Given the description of an element on the screen output the (x, y) to click on. 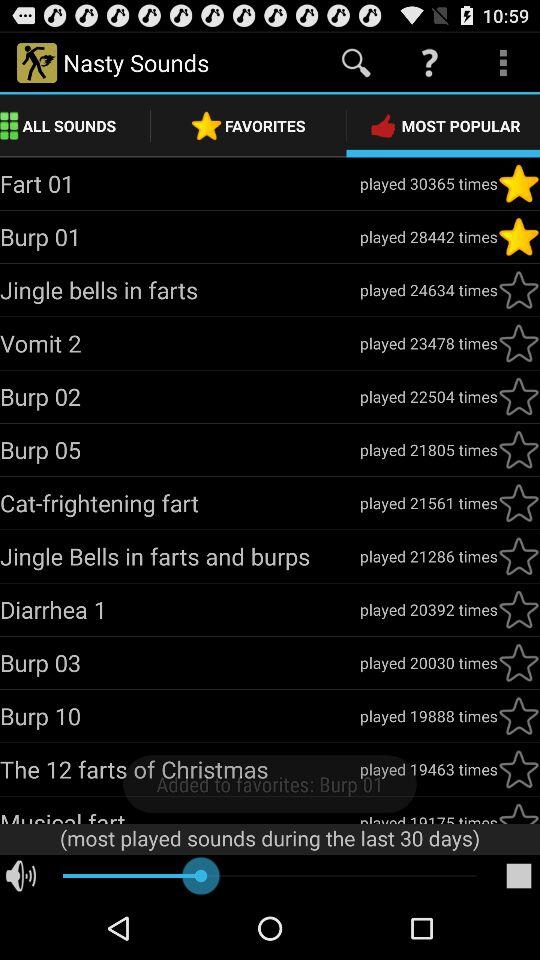
mark as favorite (519, 663)
